Given the description of an element on the screen output the (x, y) to click on. 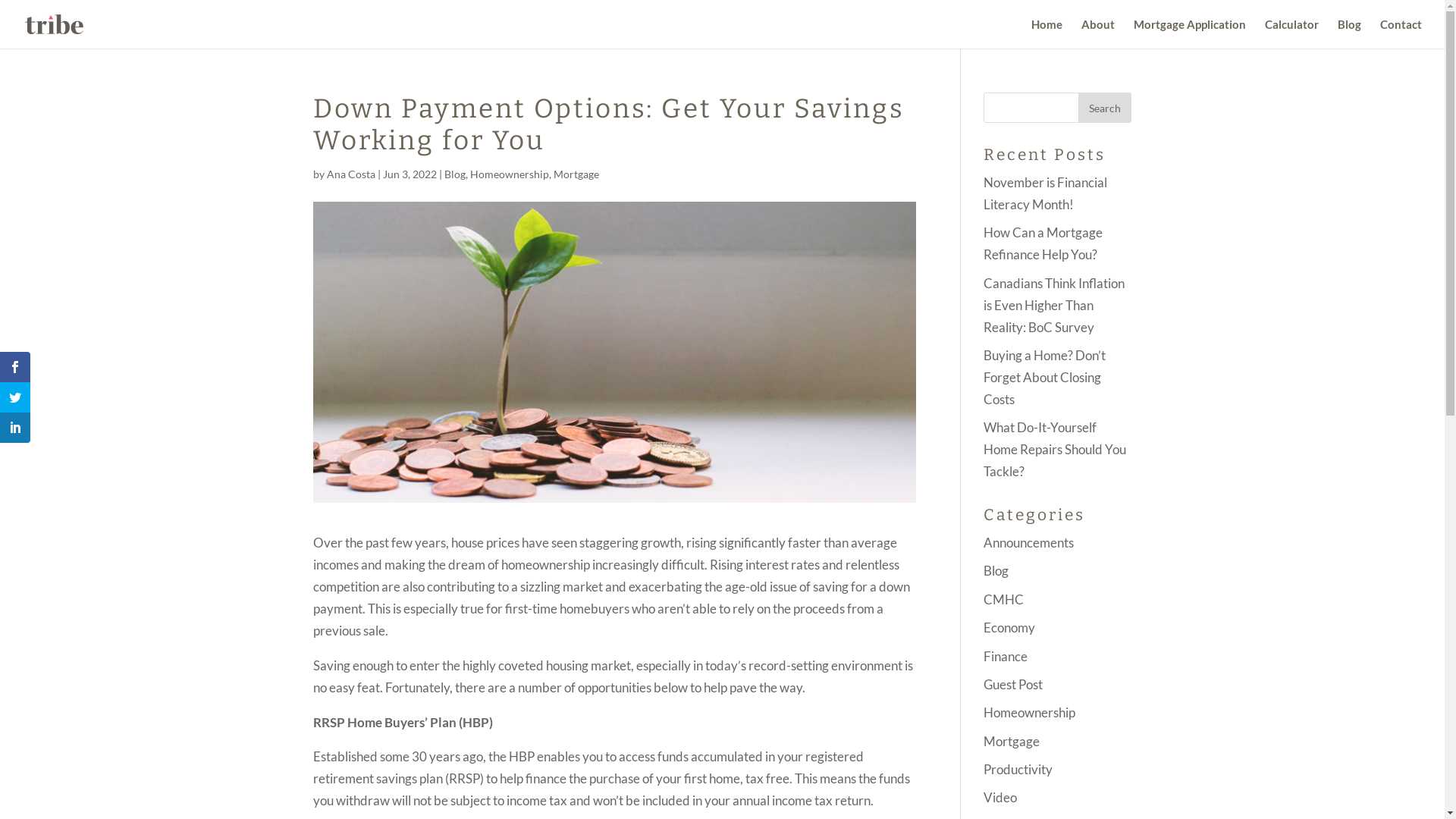
Mortgage Element type: text (576, 173)
Blog Element type: text (454, 173)
Productivity Element type: text (1017, 769)
What Do-It-Yourself Home Repairs Should You Tackle? Element type: text (1054, 449)
Homeownership Element type: text (1029, 712)
Blog Element type: text (995, 570)
Mortgage Application Element type: text (1189, 33)
Guest Post Element type: text (1012, 684)
Announcements Element type: text (1028, 542)
Homeownership Element type: text (509, 173)
Video Element type: text (999, 797)
About Element type: text (1097, 33)
Calculator Element type: text (1291, 33)
Ana Costa Element type: text (350, 173)
Economy Element type: text (1009, 627)
November is Financial Literacy Month! Element type: text (1045, 193)
How Can a Mortgage Refinance Help You? Element type: text (1042, 243)
Finance Element type: text (1005, 656)
CMHC Element type: text (1003, 599)
Contact Element type: text (1400, 33)
Home Element type: text (1046, 33)
Search Element type: text (1104, 107)
Blog Element type: text (1349, 33)
Mortgage Element type: text (1011, 741)
